Given the description of an element on the screen output the (x, y) to click on. 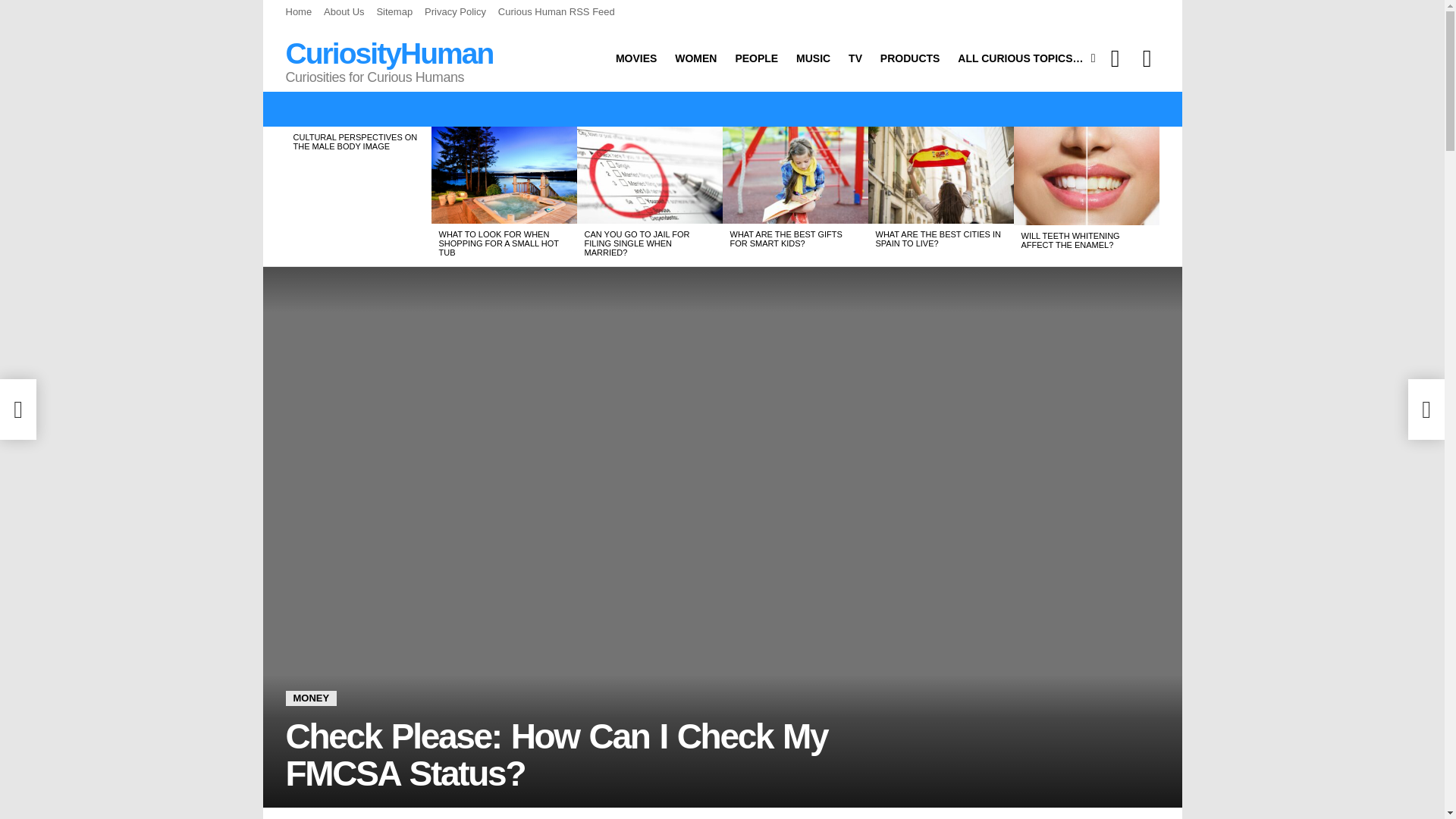
Curious Human RSS Feed (555, 12)
What to Look for When Shopping for a Small Hot Tub (503, 174)
MUSIC (813, 57)
WOMEN (694, 57)
CuriosityHuman (389, 52)
What Are the Best Cities in Spain to Live? (940, 174)
Can You Go to Jail for Filing Single When Married? (649, 174)
Privacy Policy (455, 12)
Will Teeth Whitening Affect the Enamel? (1085, 175)
What Are the Best Gifts for Smart Kids? (794, 174)
